Given the description of an element on the screen output the (x, y) to click on. 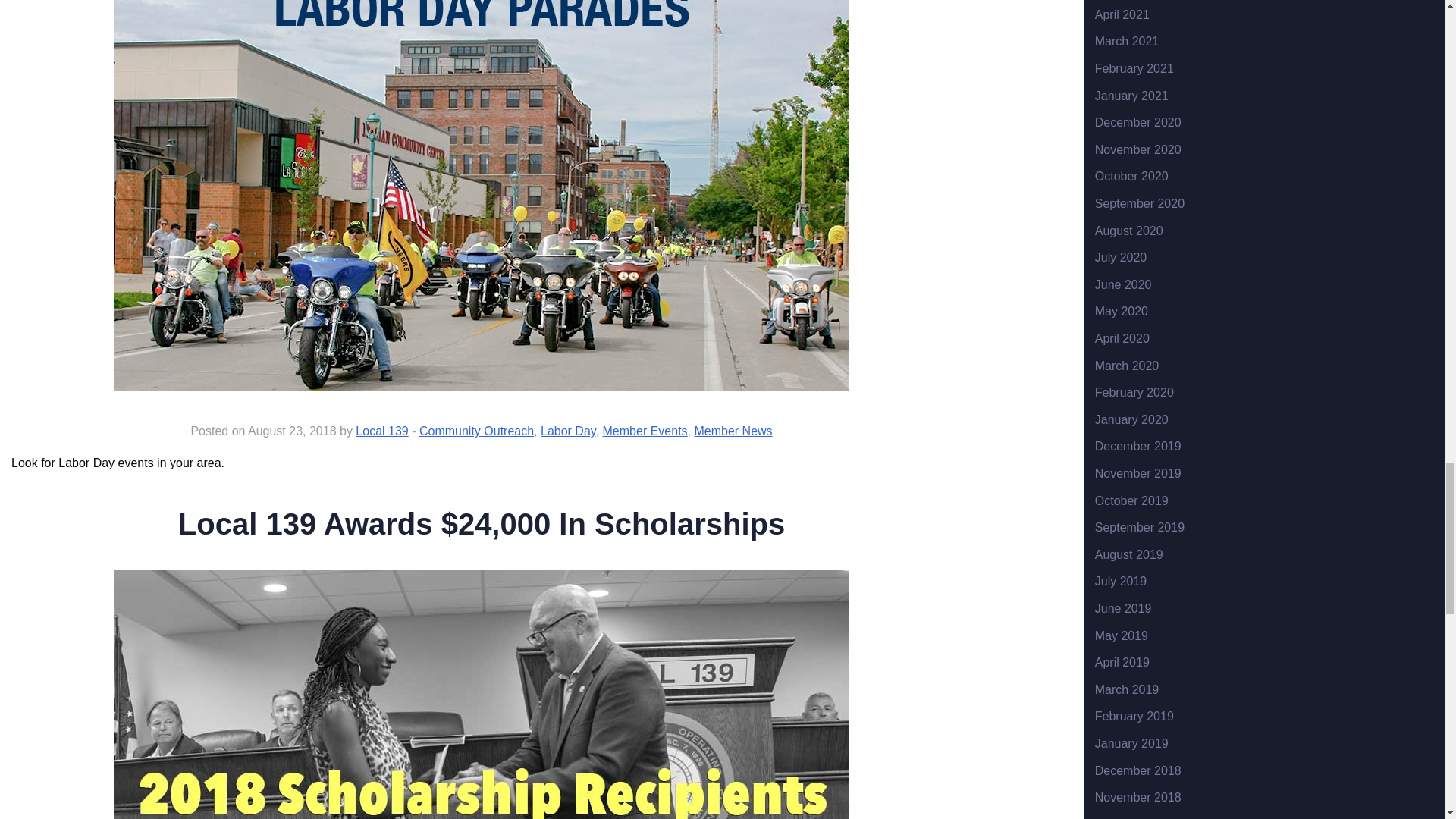
Posts by Local 139 (381, 431)
